Given the description of an element on the screen output the (x, y) to click on. 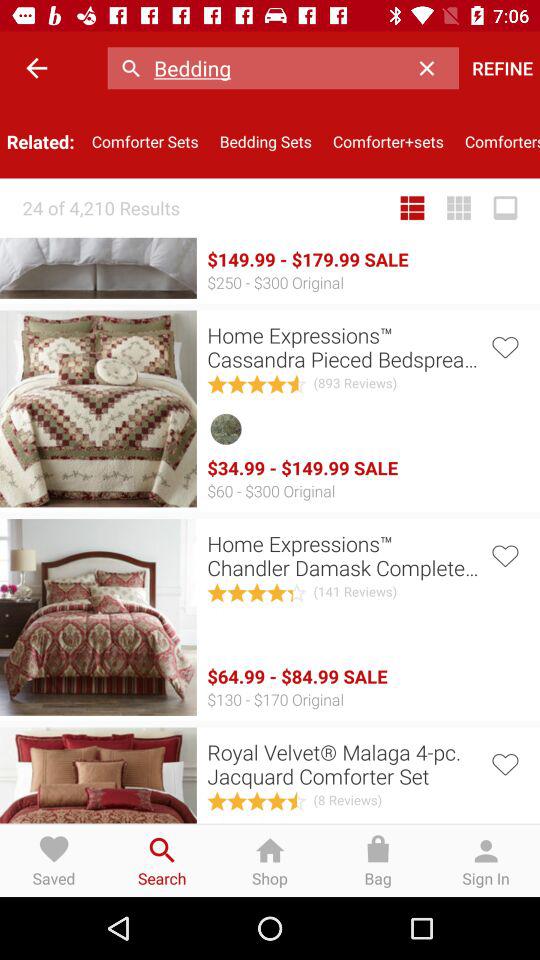
click icon to the right of comforter+sets icon (497, 141)
